Given the description of an element on the screen output the (x, y) to click on. 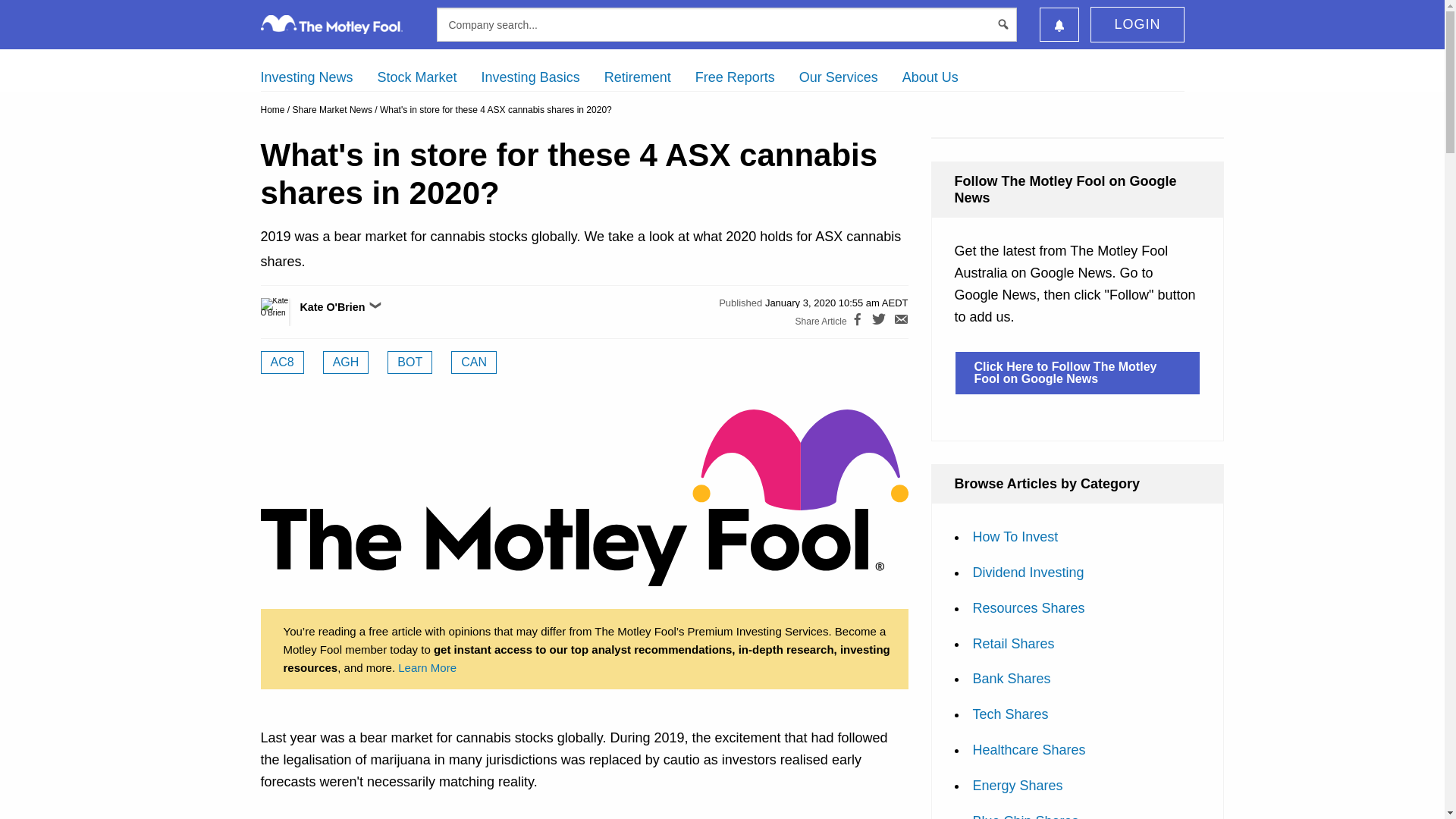
See more articles about CAN (473, 362)
See more articles about AGH (346, 362)
Share by email (900, 322)
Kate O'Brien (290, 311)
Share on Facebook (857, 322)
See more articles about AC8 (282, 362)
See more articles about BOT (409, 362)
LOGIN (1136, 24)
Share on Twitter (878, 322)
Stock Market (417, 78)
Investing News (306, 78)
